Given the description of an element on the screen output the (x, y) to click on. 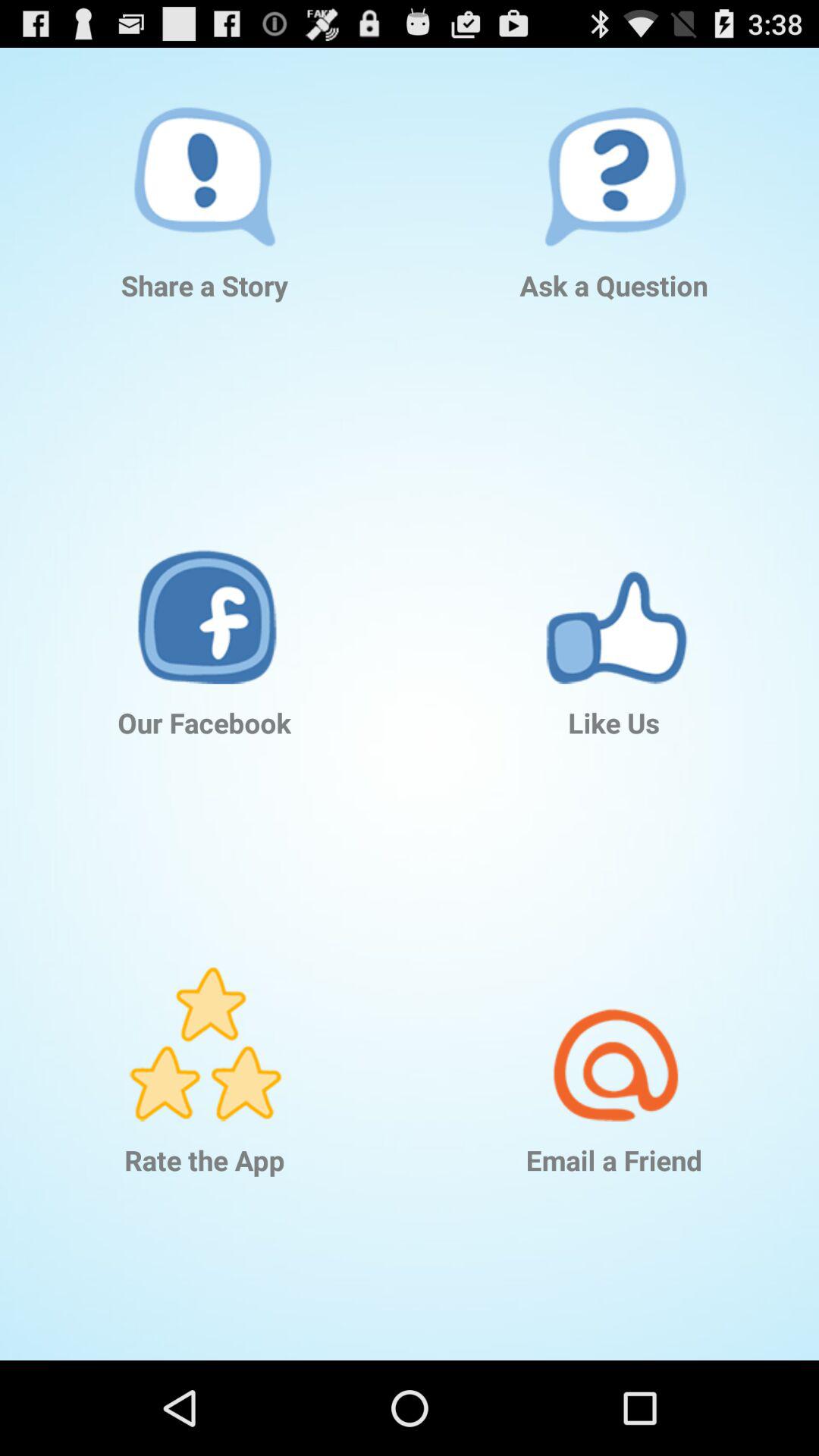
choose the icon above email a friend app (613, 1021)
